Given the description of an element on the screen output the (x, y) to click on. 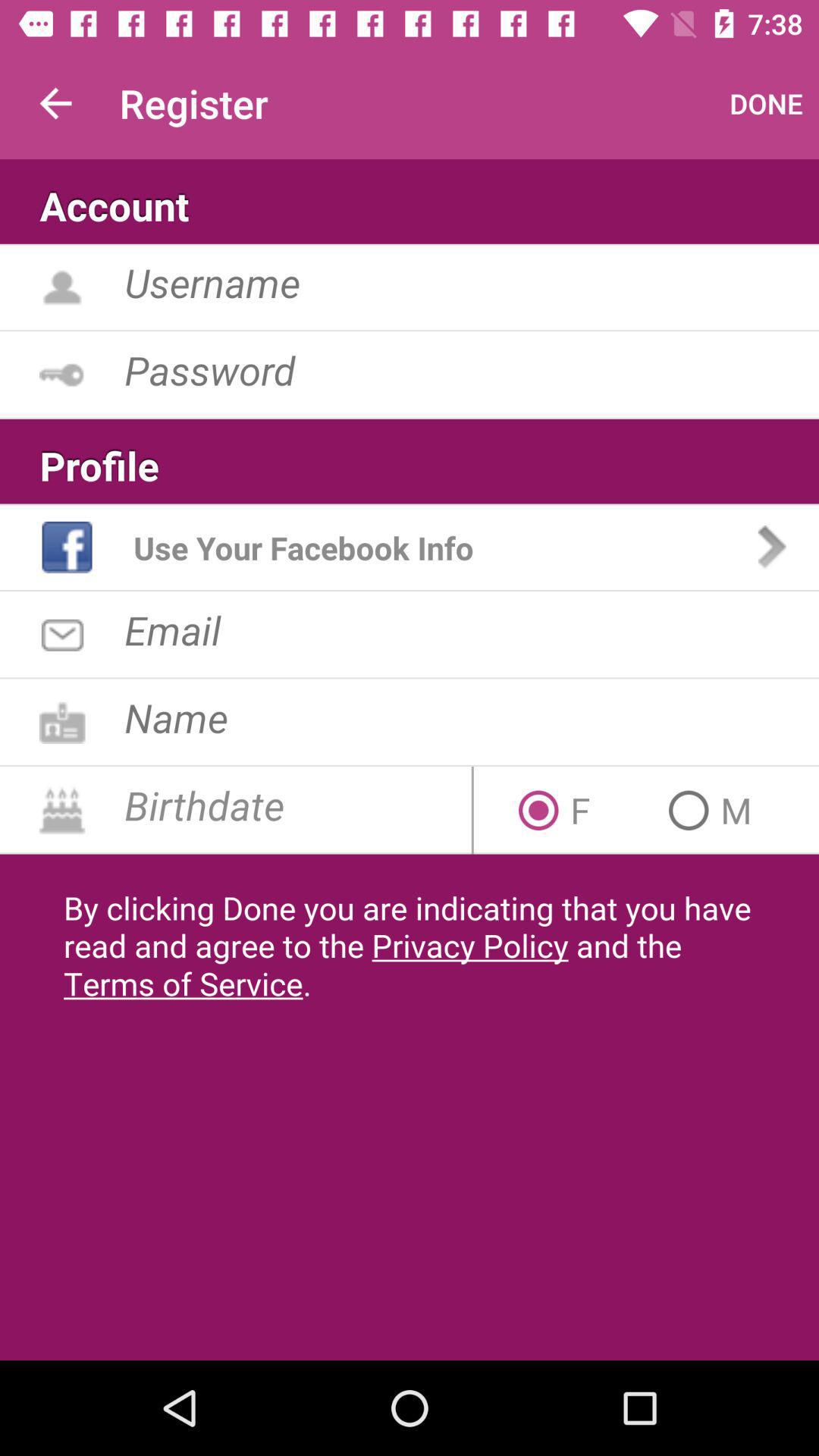
enter text (471, 717)
